Given the description of an element on the screen output the (x, y) to click on. 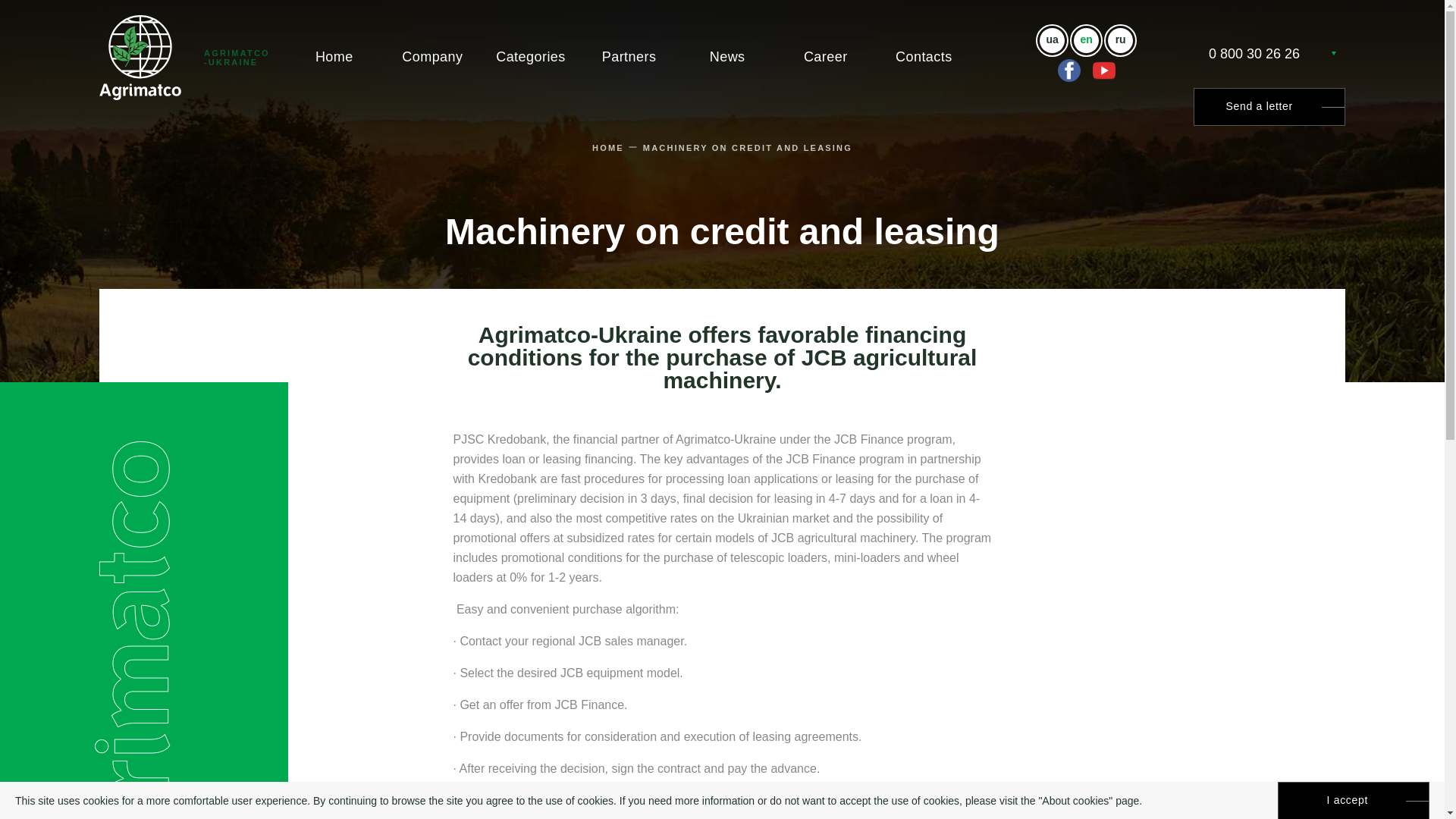
en (1086, 39)
Contacts (924, 56)
facebook (1069, 69)
Send a letter (1269, 106)
News (726, 56)
youtube (1104, 69)
HOME (608, 147)
Career (825, 56)
Partners (628, 56)
ru (1120, 39)
AGRIMATCO-UKRAINE (186, 57)
Home (334, 56)
logo (139, 57)
0 800 30 26 26 (1254, 54)
ua (1051, 39)
